Given the description of an element on the screen output the (x, y) to click on. 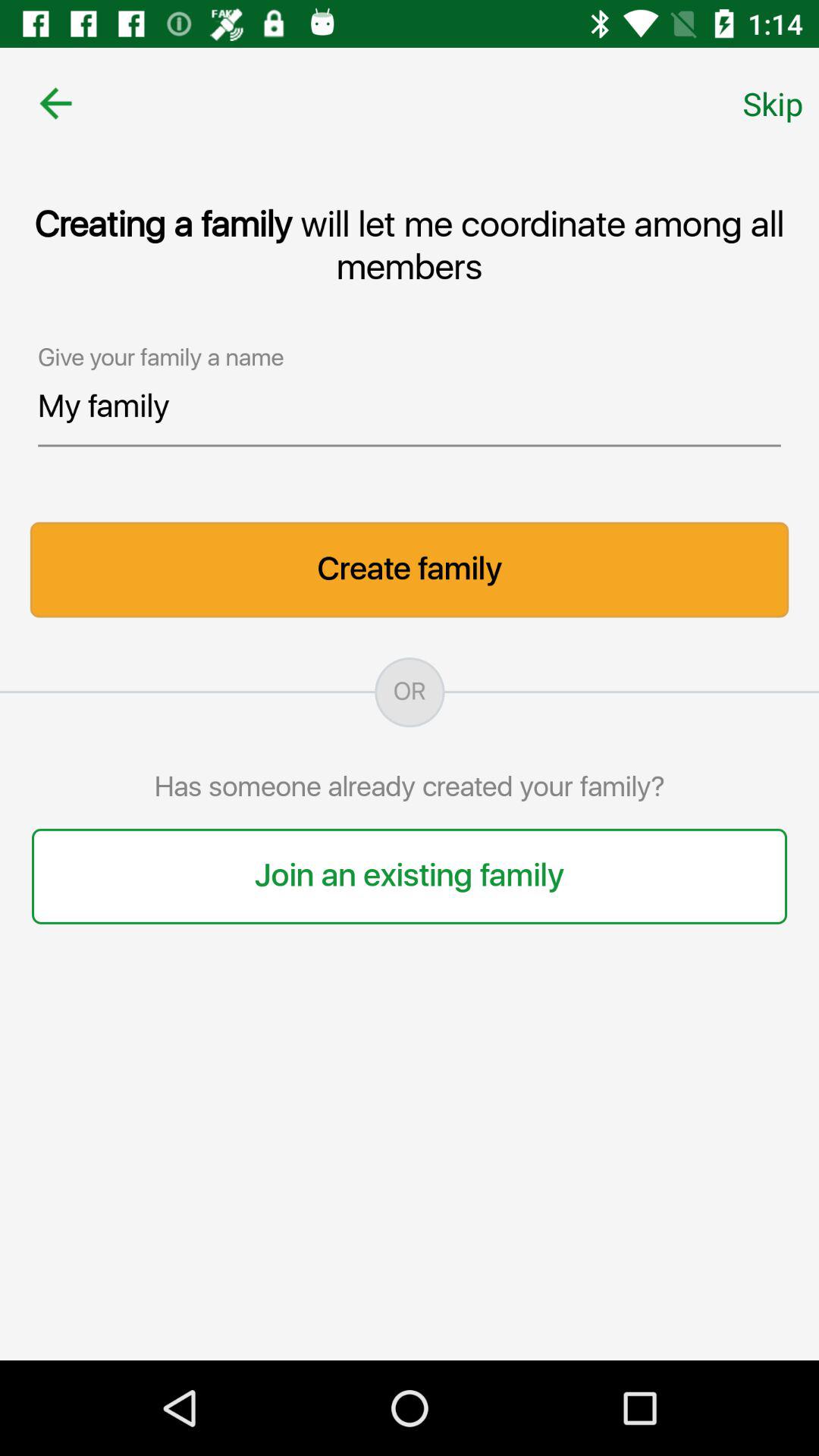
choose the item below has someone already (409, 876)
